Given the description of an element on the screen output the (x, y) to click on. 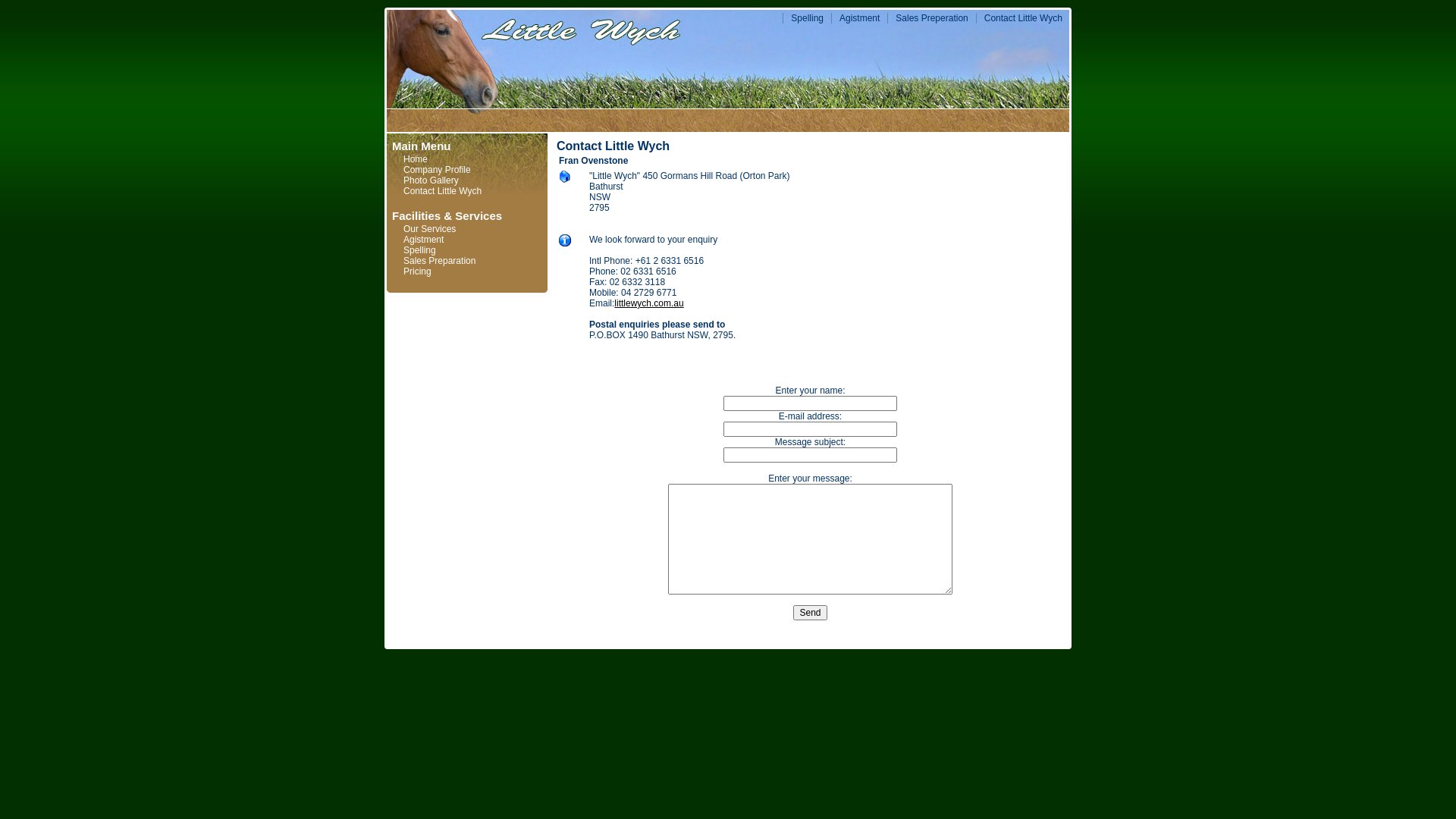
Company Profile Element type: text (436, 169)
Spelling Element type: text (419, 249)
Photo Gallery Element type: text (430, 180)
Send Element type: text (809, 612)
littlewych.com.au Element type: text (648, 303)
Our Services Element type: text (429, 228)
Spelling Element type: text (806, 17)
Contact Little Wych Element type: text (442, 190)
Agistment Element type: text (423, 239)
Pricing Element type: text (417, 271)
Agistment Element type: text (859, 17)
Home Element type: text (415, 158)
Sales Preparation Element type: text (439, 260)
Sales Preperation Element type: text (931, 17)
Contact Little Wych Element type: text (1023, 17)
